Given the description of an element on the screen output the (x, y) to click on. 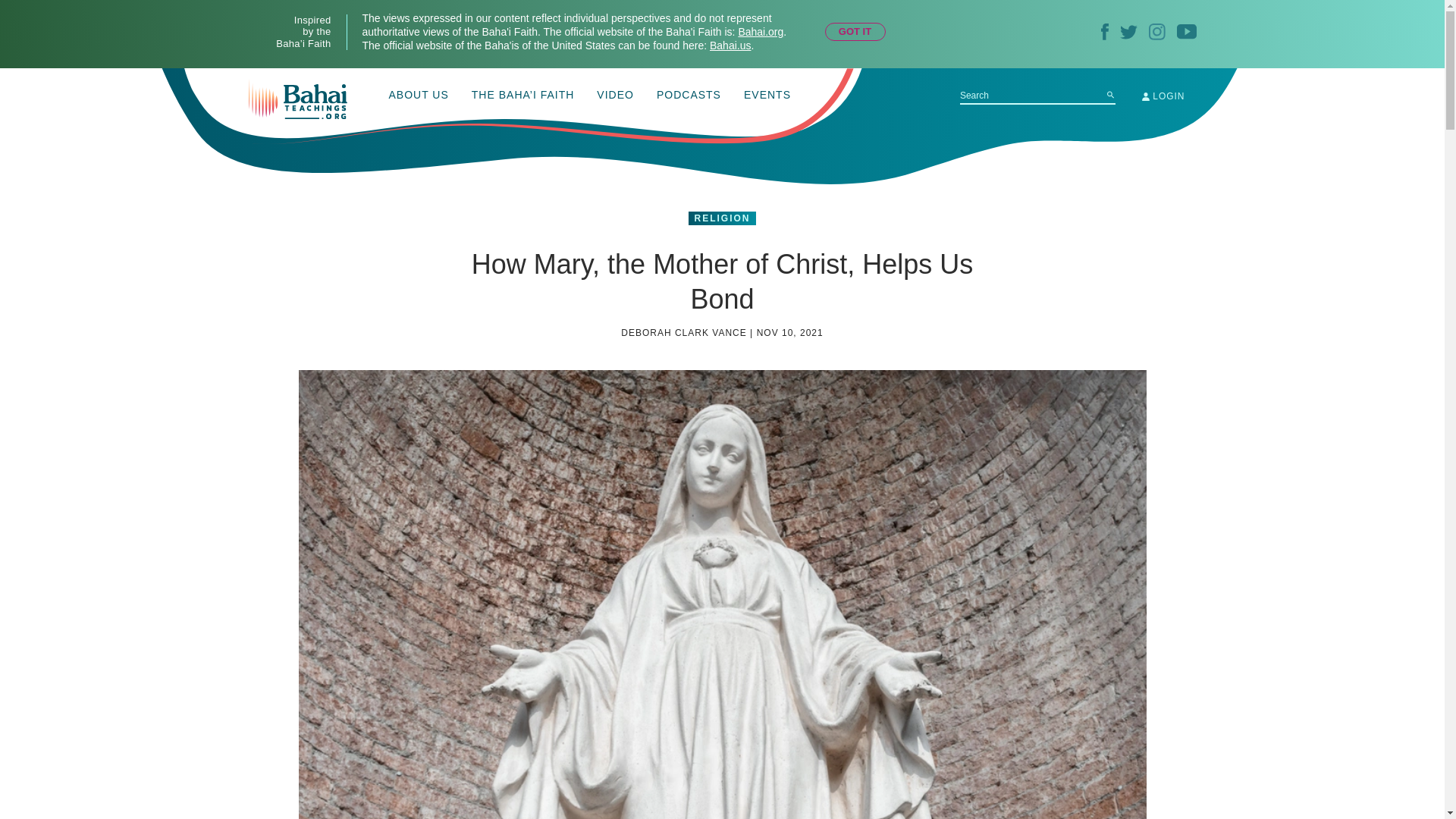
Search for: (1037, 95)
EVENTS (767, 96)
PODCASTS (688, 96)
VIDEO (614, 96)
Search (1110, 94)
LOGIN (1163, 95)
GOT IT (855, 31)
RELIGION (721, 218)
Bahai.us (730, 45)
Bahai.org (760, 31)
